Given the description of an element on the screen output the (x, y) to click on. 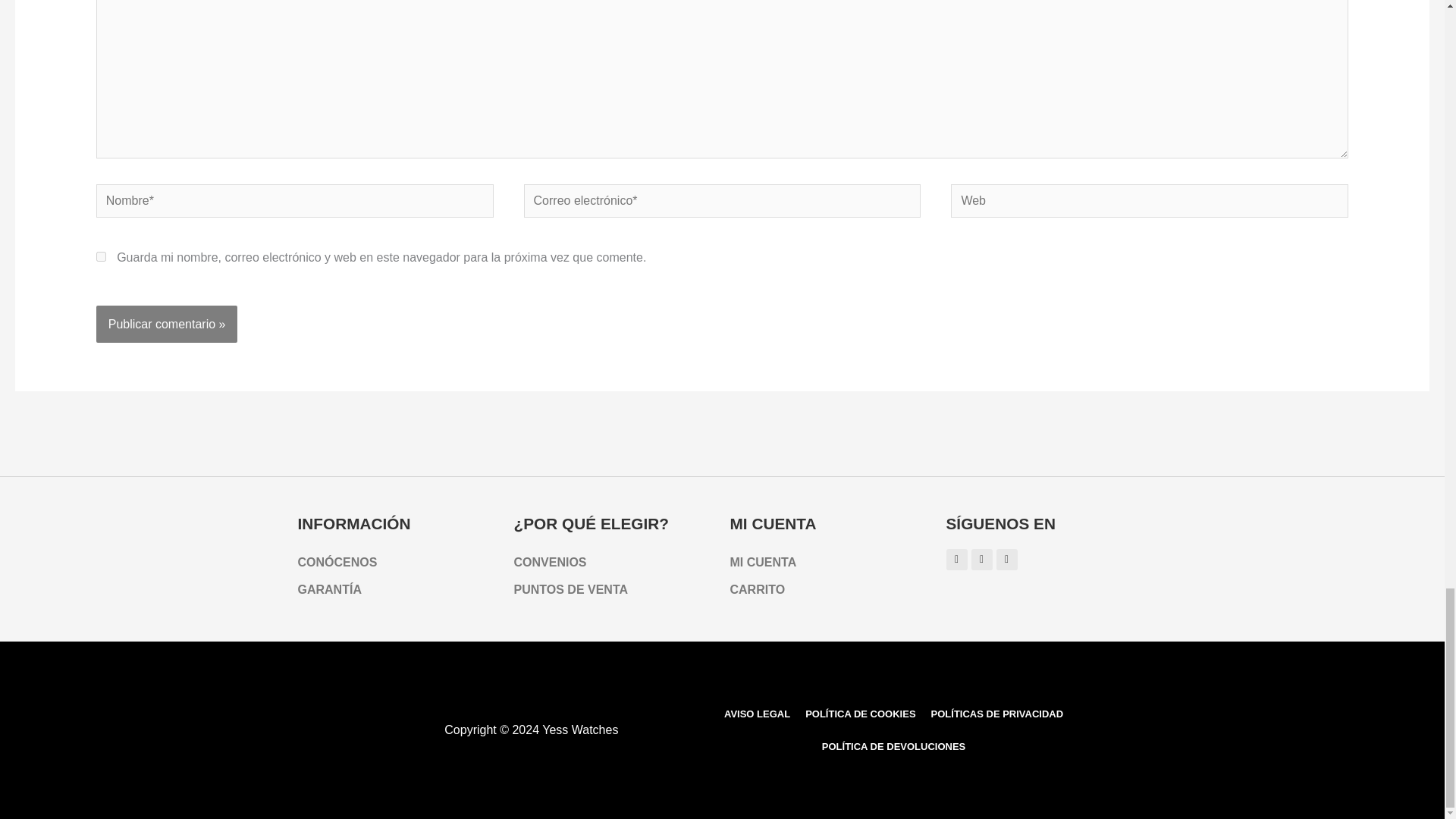
yes (101, 256)
Pinterest (981, 559)
CARRITO (829, 589)
PUNTOS DE VENTA (613, 589)
Instagram (957, 559)
CONVENIOS (613, 562)
MI CUENTA (829, 562)
